Given the description of an element on the screen output the (x, y) to click on. 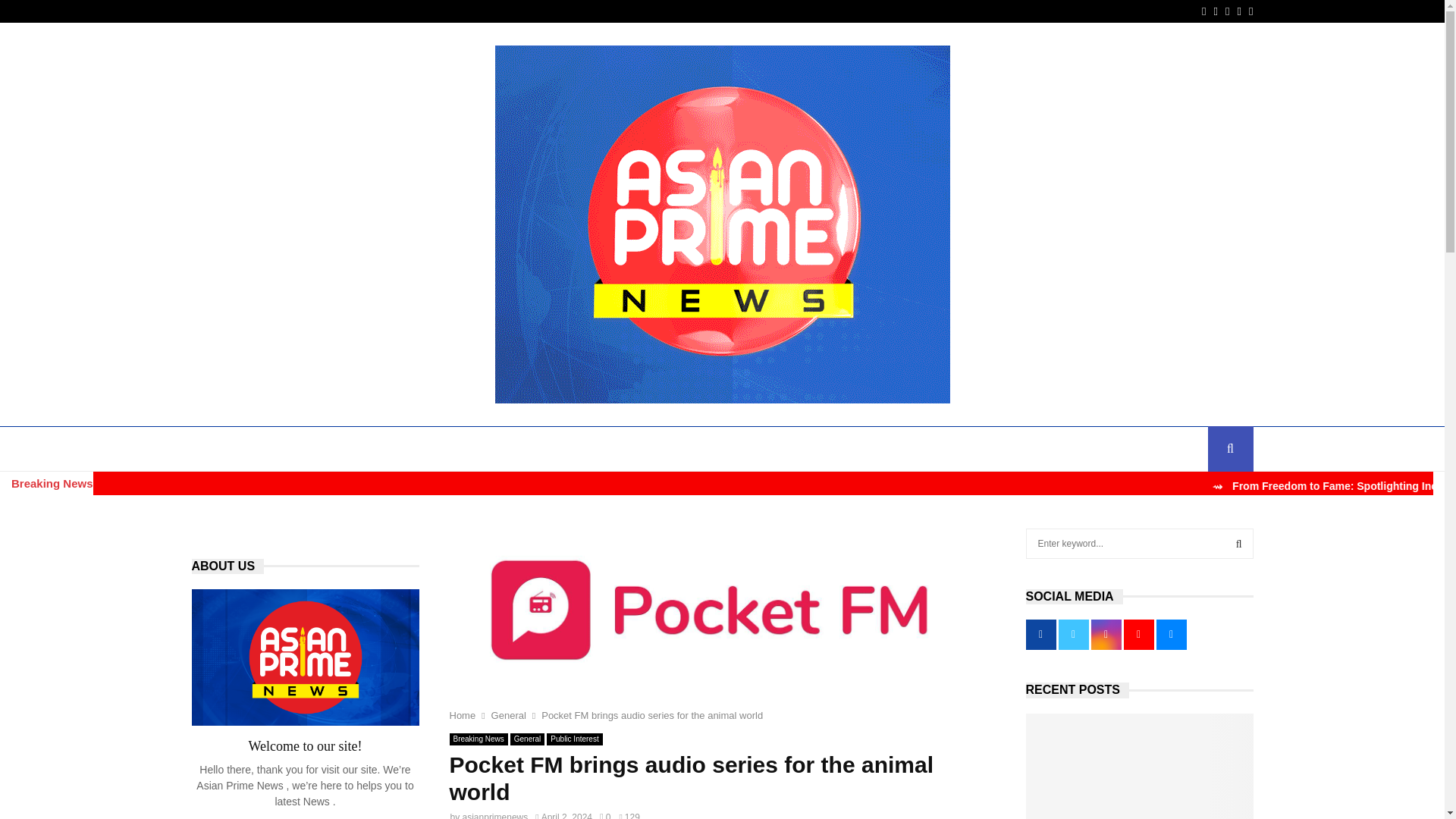
HOME (218, 448)
FINANCE (445, 448)
NEW PRODUCTS (901, 448)
EDUCATION (368, 448)
Home (462, 715)
MORE (1082, 448)
SPORTS (733, 448)
LIFESTYLE (807, 448)
REAL ESTATE (1002, 448)
General (508, 715)
